Given the description of an element on the screen output the (x, y) to click on. 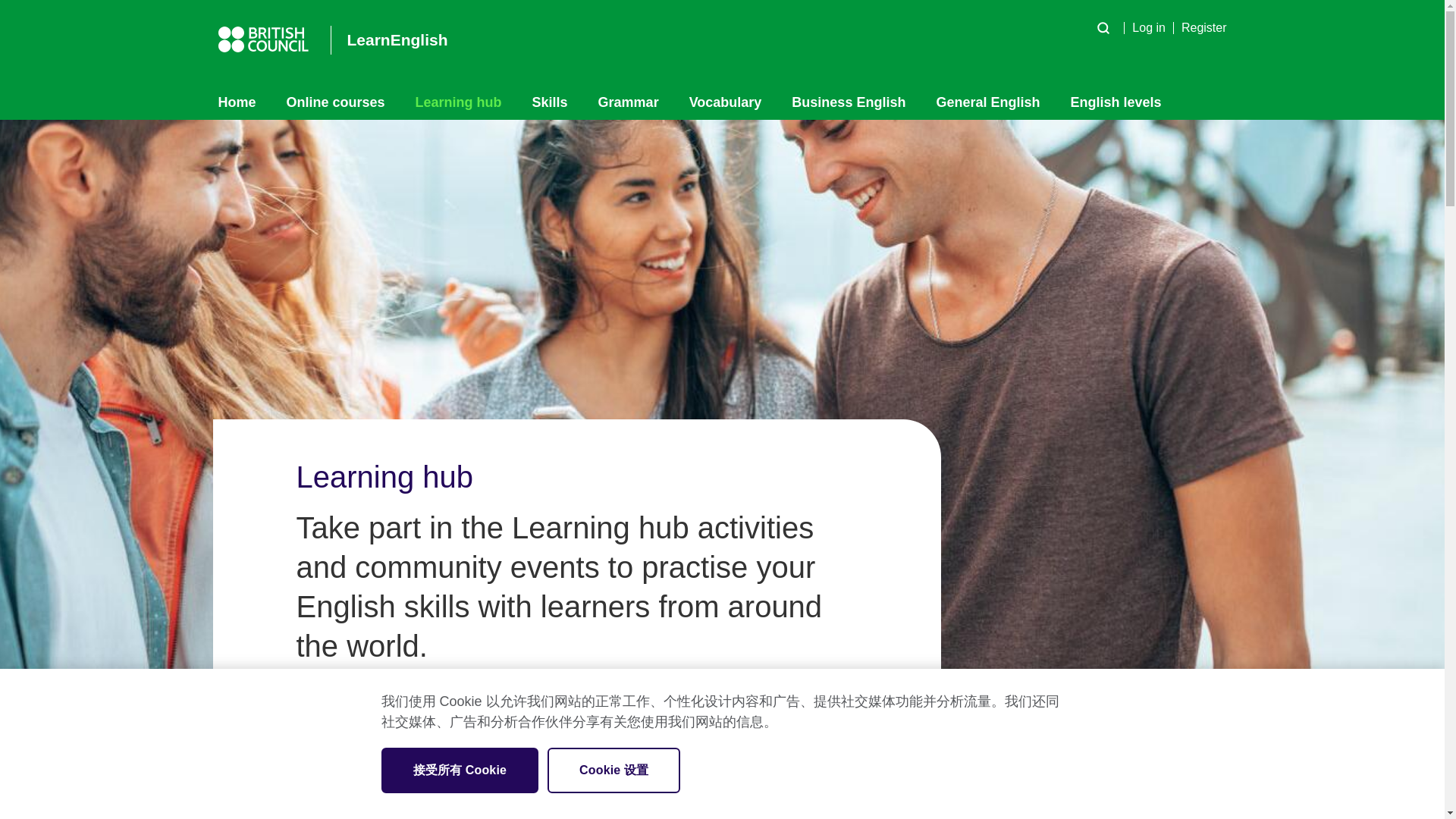
Business English (848, 102)
LearnEnglish (389, 39)
Vocabulary (725, 102)
Home (244, 102)
Learning hub (458, 102)
Search (1103, 27)
General English (987, 102)
Grammar (628, 102)
Online courses (335, 102)
